Given the description of an element on the screen output the (x, y) to click on. 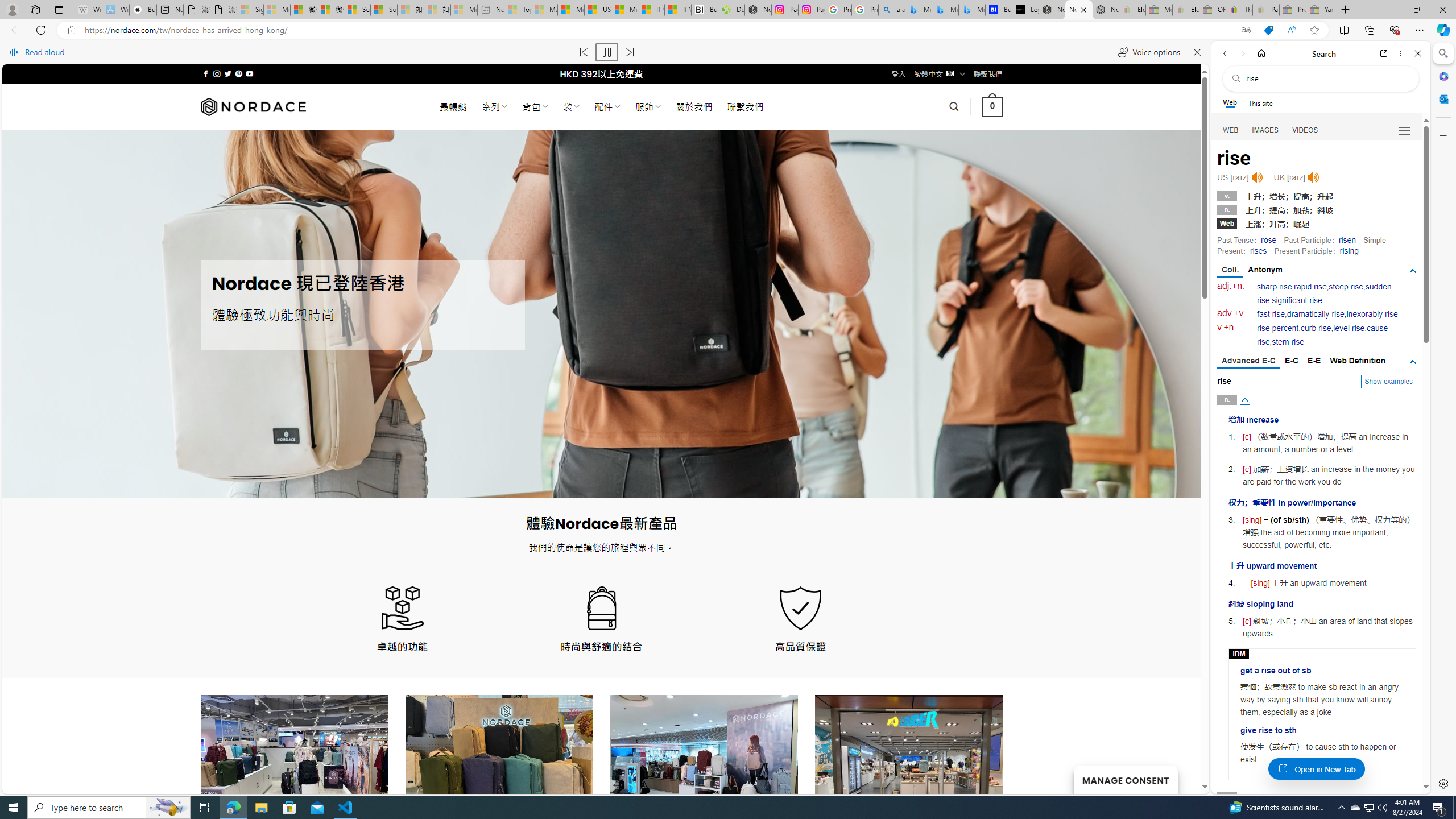
Close read aloud (1196, 52)
 0  (992, 106)
steep rise (1345, 286)
rising (1348, 250)
AutomationID: posbtn_1 (1245, 796)
